Given the description of an element on the screen output the (x, y) to click on. 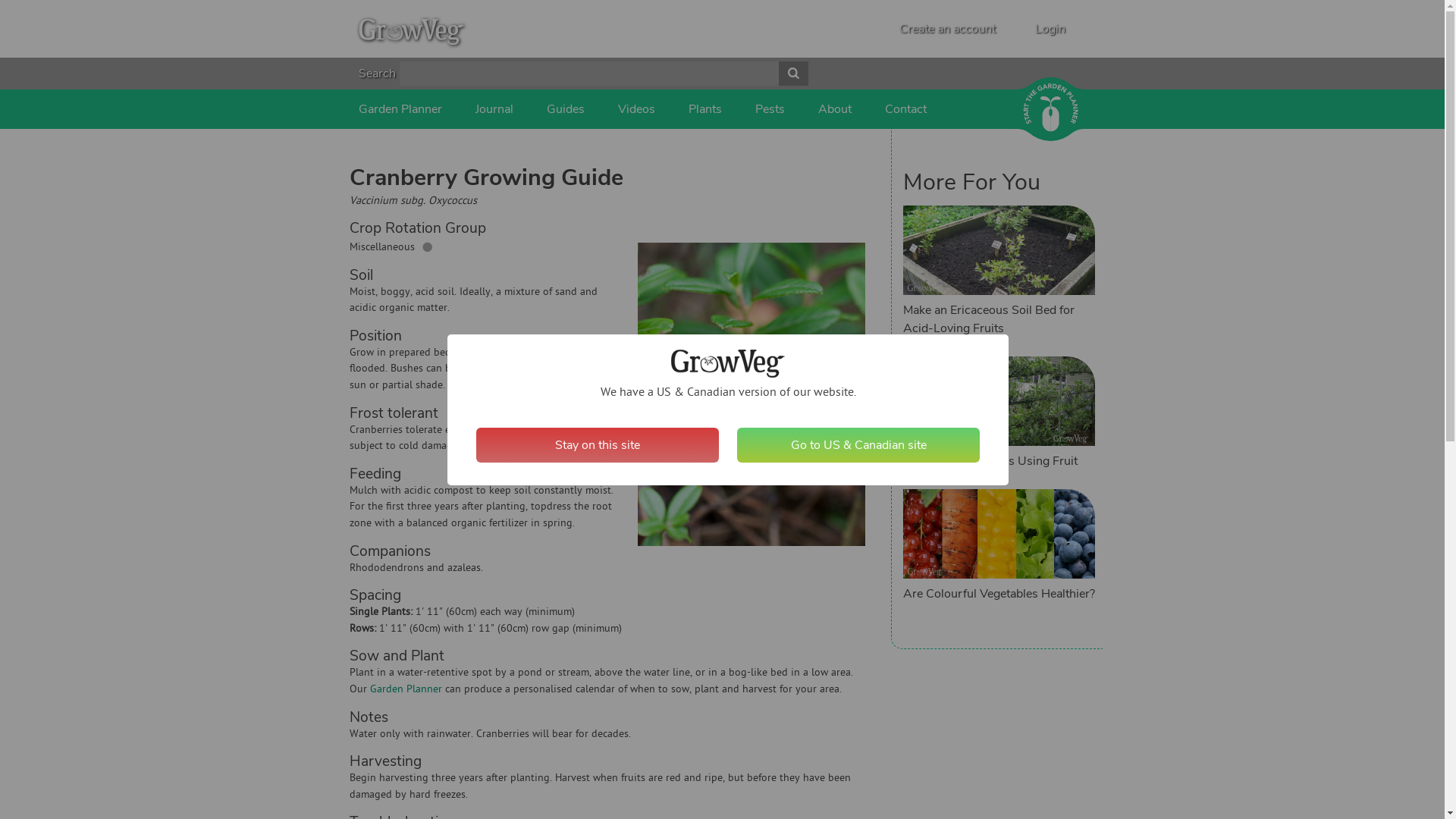
Pests Element type: text (769, 108)
Plants Element type: text (704, 108)
Garden Planner Element type: text (399, 108)
Contact Element type: text (904, 108)
Create an account Element type: text (947, 28)
Garden Planner Element type: text (406, 689)
Guides Element type: text (564, 108)
Journal Element type: text (493, 108)
Videos Element type: text (635, 108)
Stay on this site Element type: text (597, 444)
Garden Design Ideas Using Fruit Element type: text (990, 460)
Go to US & Canadian site Element type: text (858, 444)
Make an Ericaceous Soil Bed for Acid-Loving Fruits Element type: text (988, 318)
Login Element type: text (1049, 28)
About Element type: text (833, 108)
Are Colourful Vegetables Healthier? Element type: text (999, 593)
